Given the description of an element on the screen output the (x, y) to click on. 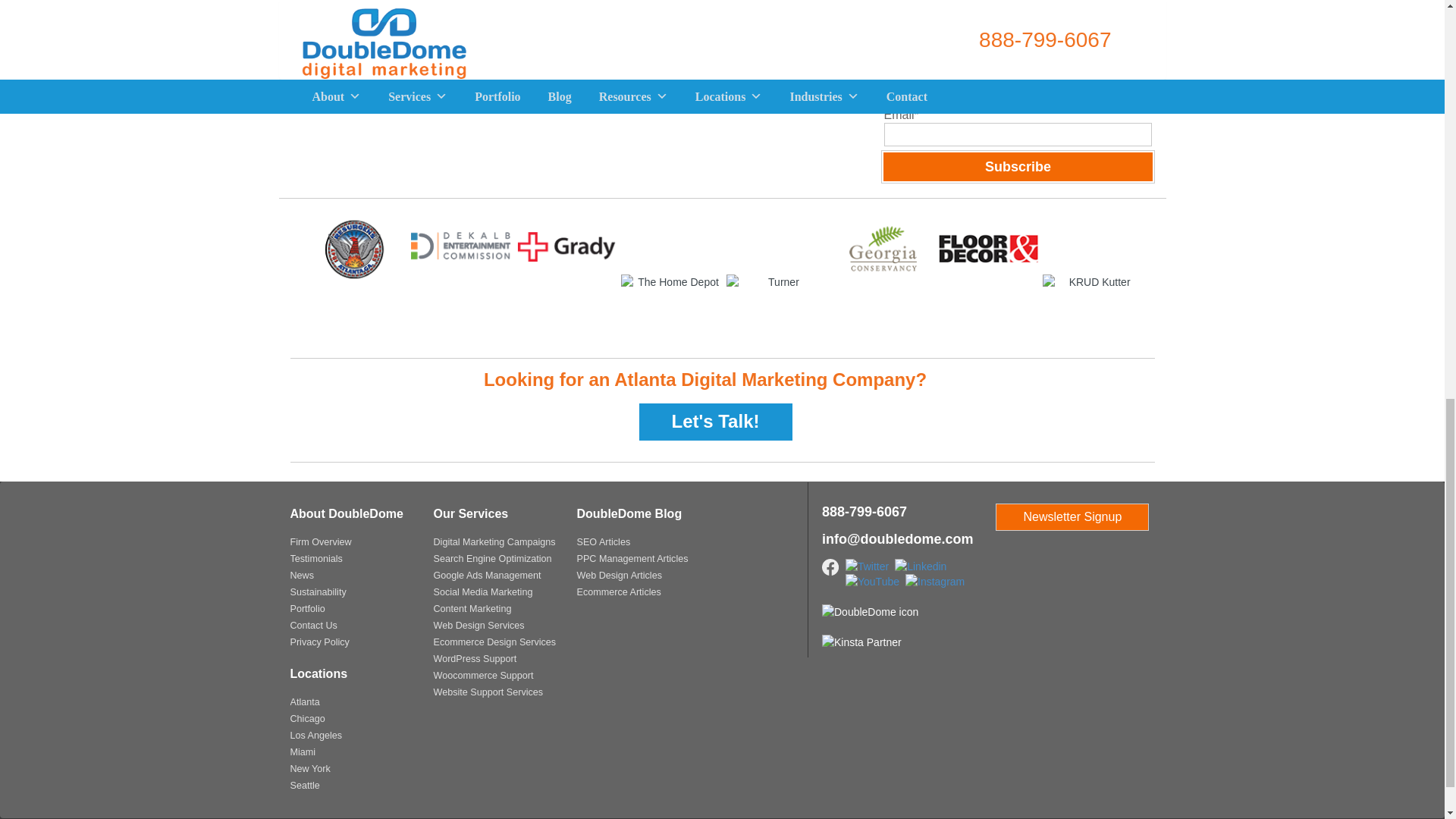
Subscribe (1017, 166)
